Given the description of an element on the screen output the (x, y) to click on. 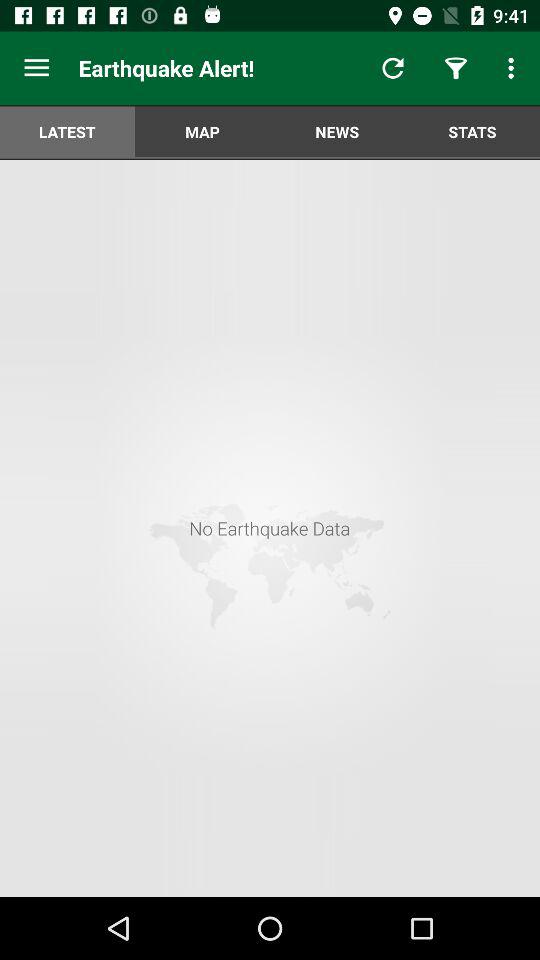
choose the app to the right of earthquake alert! item (392, 67)
